Given the description of an element on the screen output the (x, y) to click on. 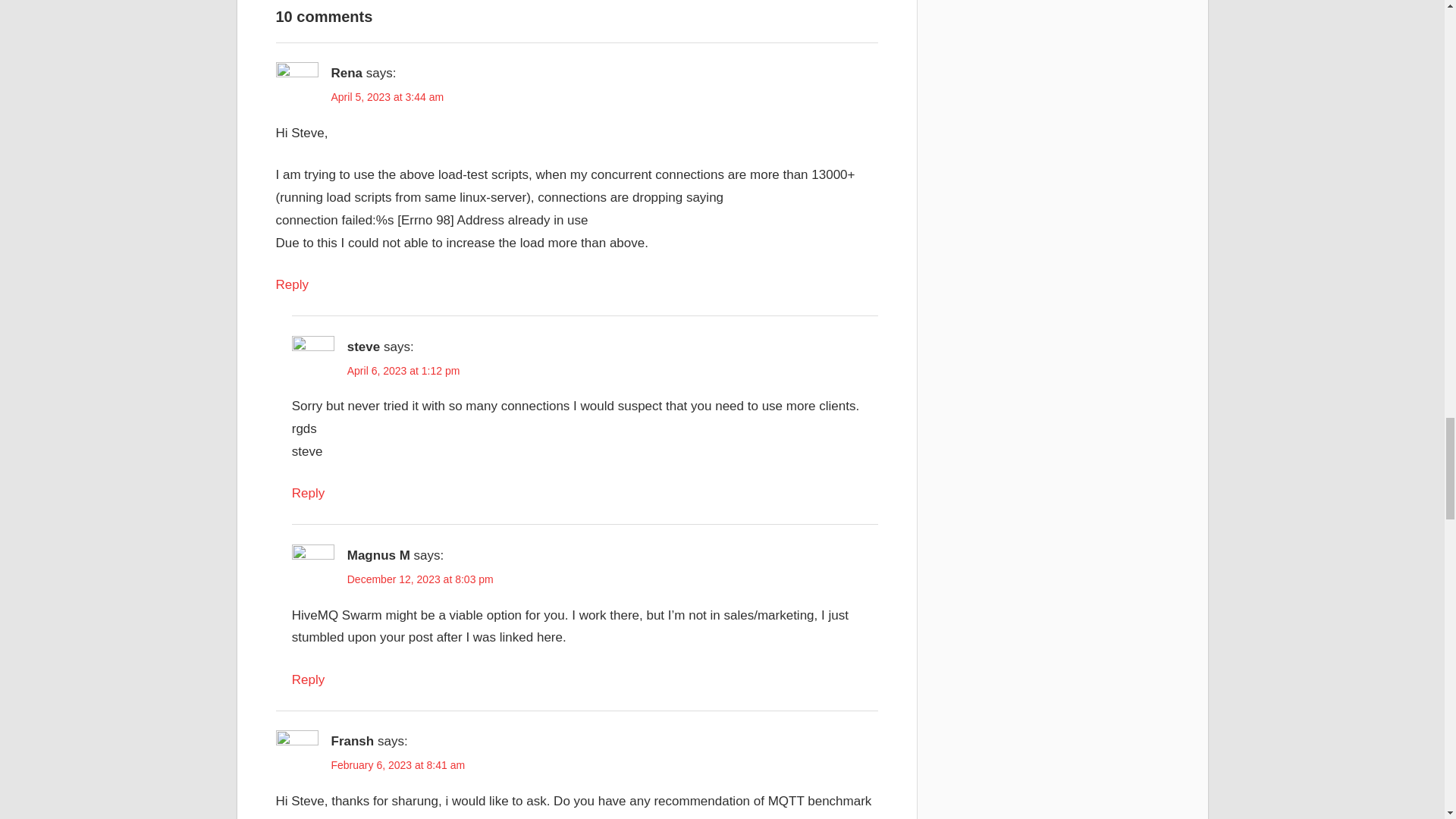
December 12, 2023 at 8:03 pm (420, 579)
Reply (308, 493)
February 6, 2023 at 8:41 am (397, 765)
Reply (308, 679)
April 5, 2023 at 3:44 am (387, 96)
Reply (292, 284)
April 6, 2023 at 1:12 pm (403, 370)
